Given the description of an element on the screen output the (x, y) to click on. 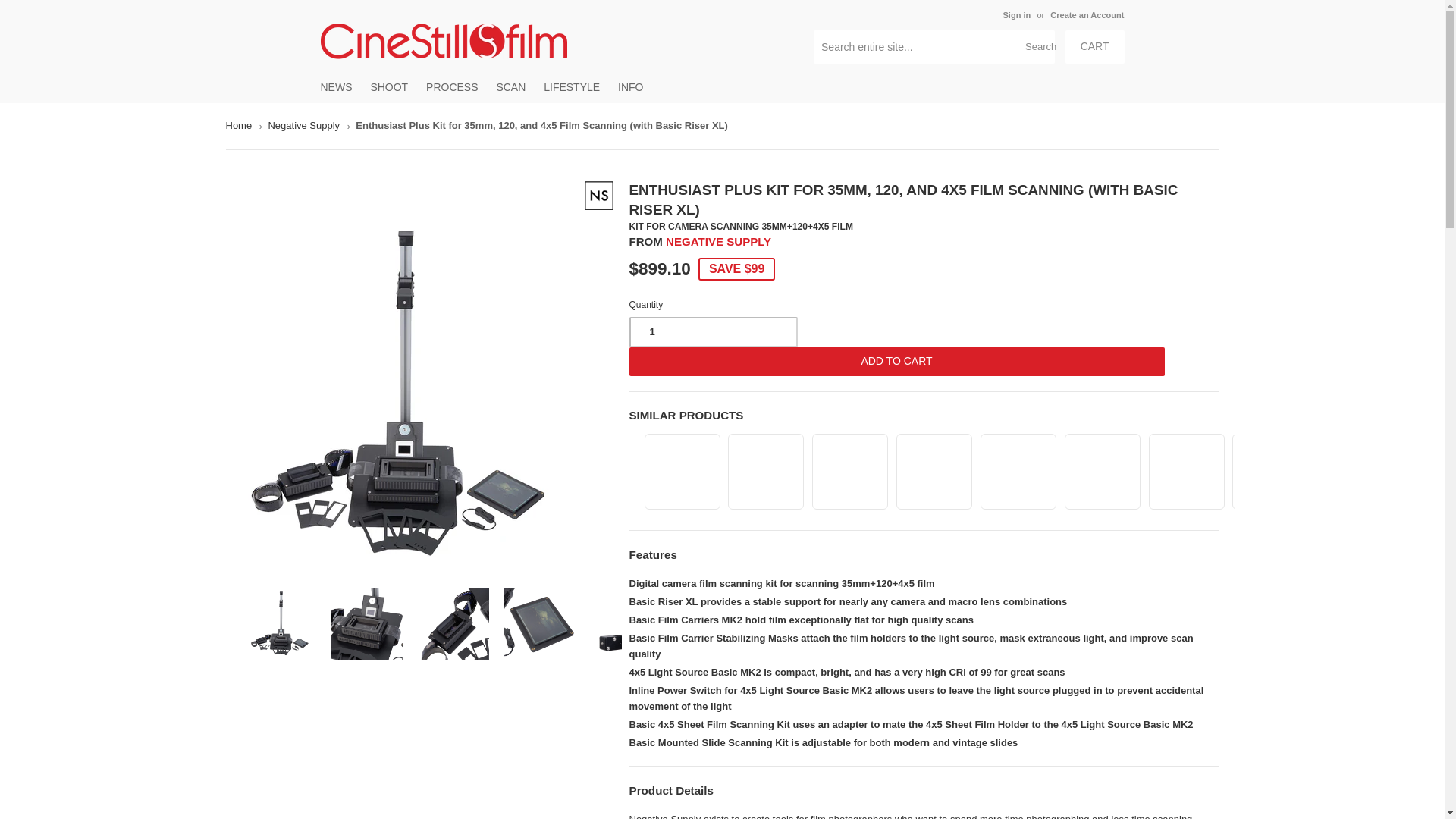
PROCESS (451, 87)
Back to the frontpage (241, 125)
SCAN (509, 87)
Sign in (1016, 14)
SHOOT (388, 87)
LIFESTYLE (571, 87)
